Given the description of an element on the screen output the (x, y) to click on. 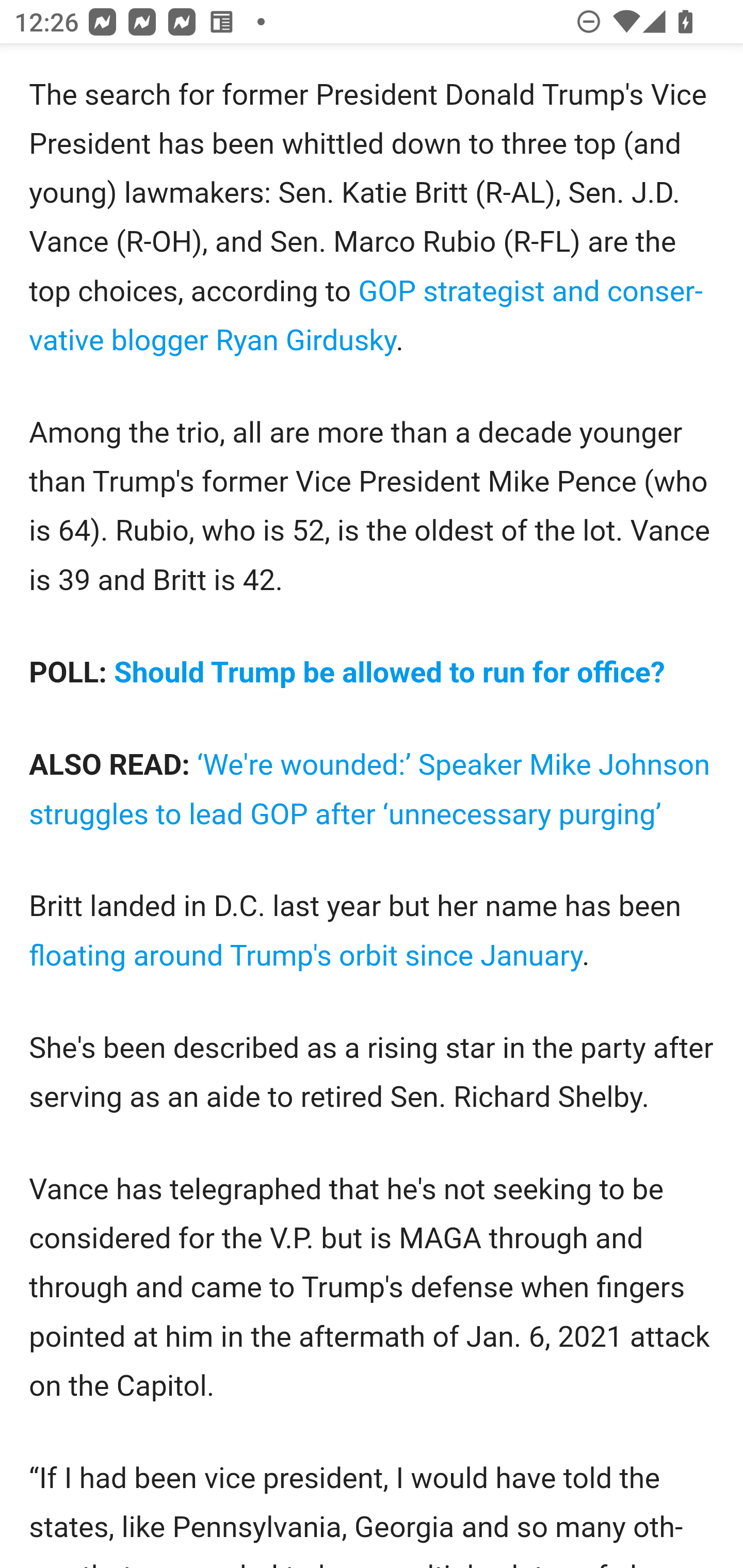
Should Trump be allowed to run for office? (389, 672)
floating around Trump's orbit since January (305, 956)
